Given the description of an element on the screen output the (x, y) to click on. 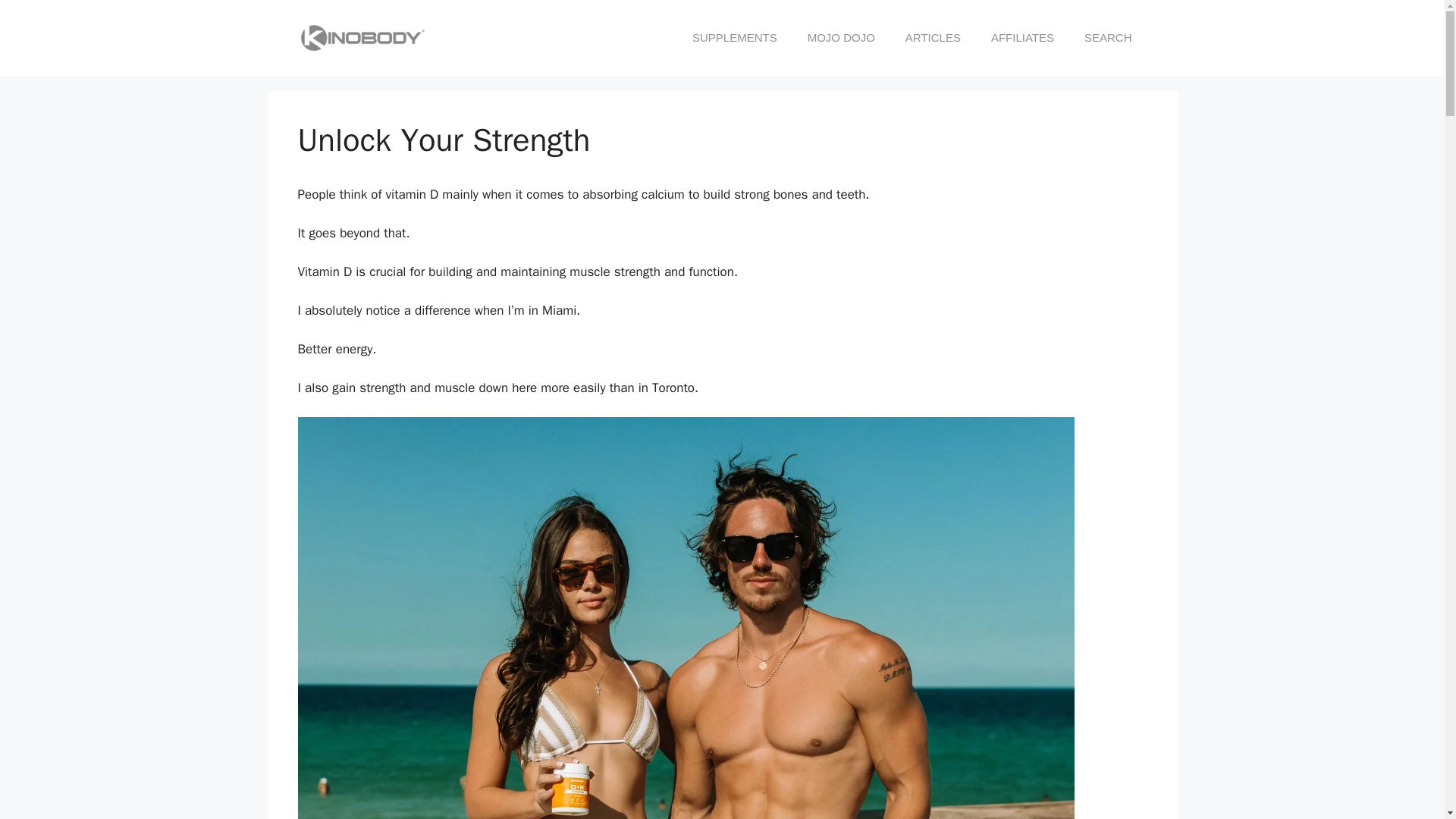
SEARCH (1107, 37)
MOJO DOJO (840, 37)
ARTICLES (932, 37)
AFFILIATES (1021, 37)
SUPPLEMENTS (734, 37)
